Given the description of an element on the screen output the (x, y) to click on. 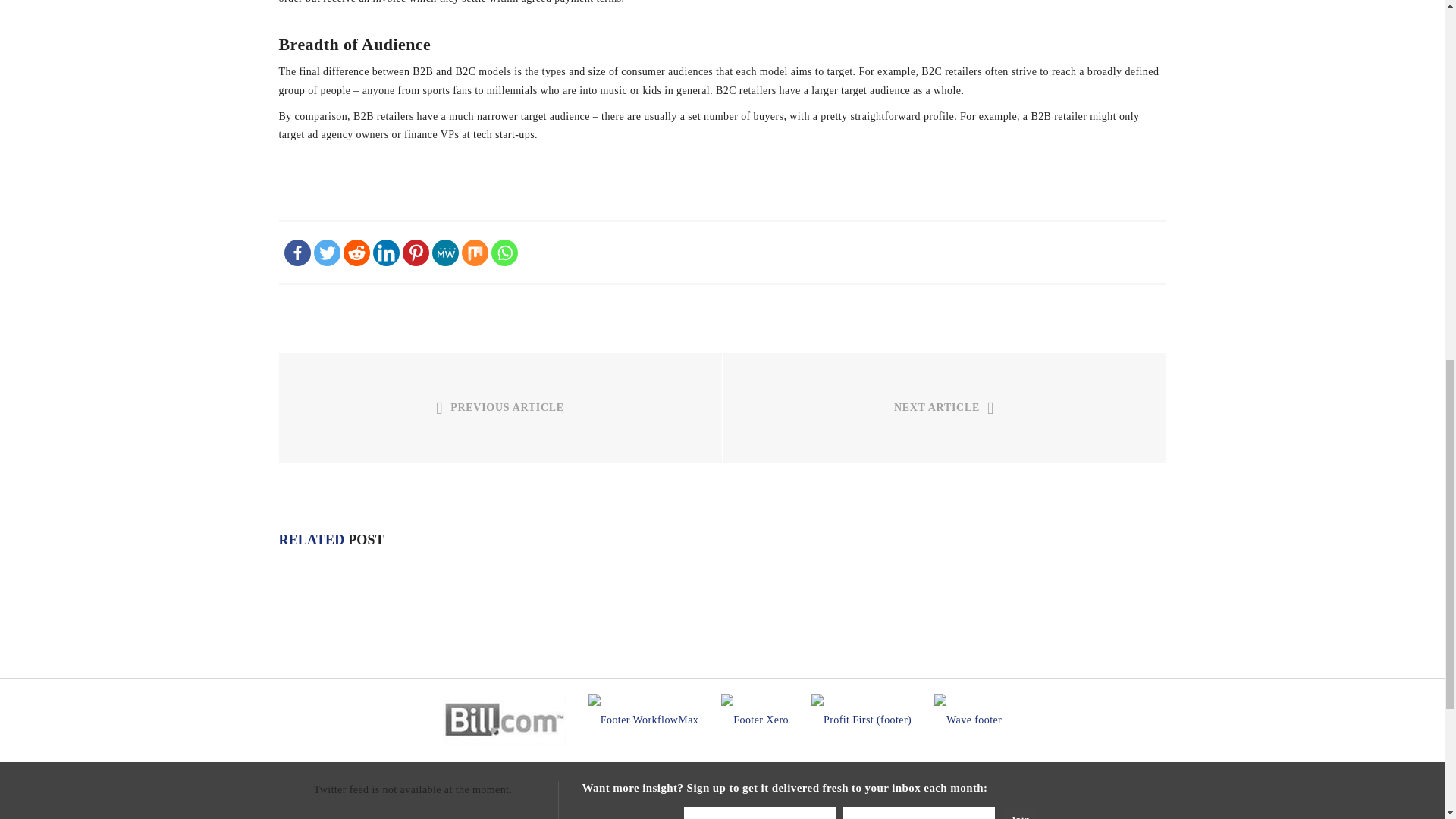
Facebook (296, 252)
Join (1019, 812)
Whatsapp (505, 252)
Pinterest (414, 252)
Linkedin (385, 252)
MeWe (445, 252)
Reddit (355, 252)
Mix (474, 252)
Twitter (327, 252)
